Given the description of an element on the screen output the (x, y) to click on. 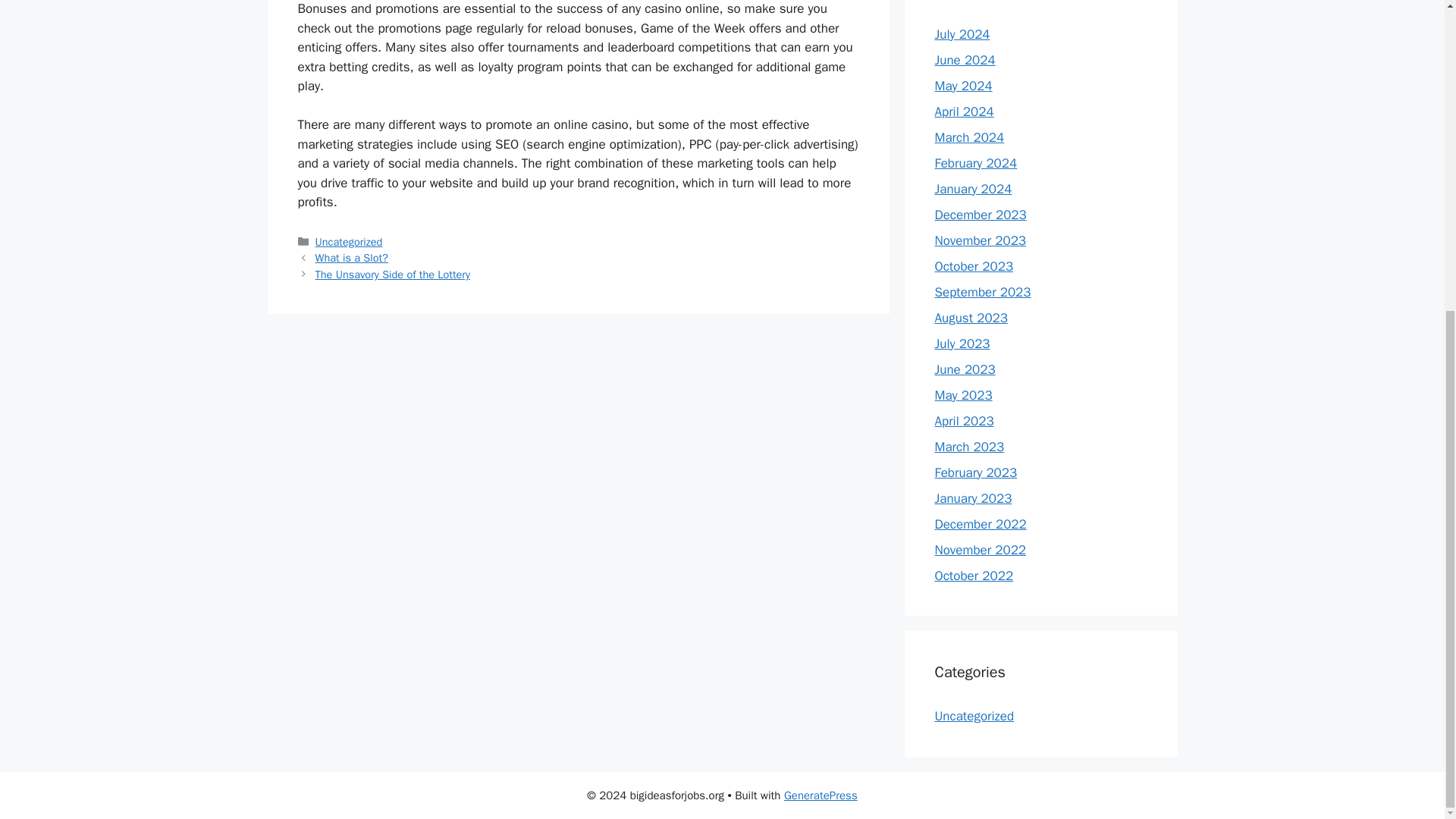
June 2024 (964, 59)
December 2023 (980, 213)
April 2023 (963, 420)
October 2023 (973, 265)
May 2023 (962, 394)
February 2023 (975, 471)
What is a Slot? (351, 257)
January 2024 (972, 188)
March 2023 (969, 446)
December 2022 (980, 523)
June 2023 (964, 368)
March 2024 (969, 136)
October 2022 (973, 575)
January 2023 (972, 497)
February 2024 (975, 162)
